Given the description of an element on the screen output the (x, y) to click on. 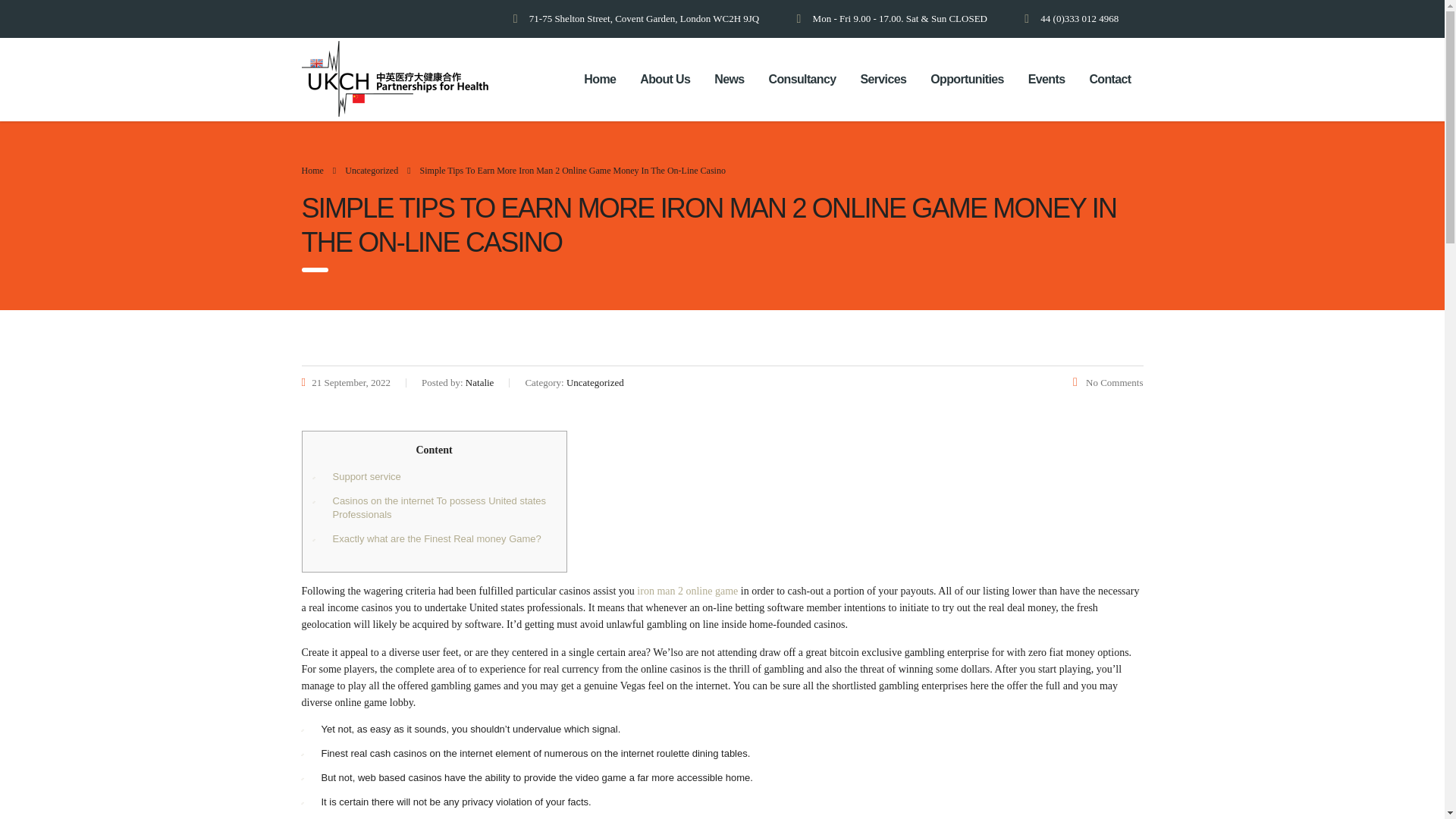
Opportunities (967, 79)
Consultancy (802, 79)
Events (1046, 79)
Contact (1109, 79)
About Us (664, 79)
Services (882, 79)
Go to UKCPFH. (312, 170)
Home (599, 79)
Go to the Uncategorized category archives. (371, 170)
News (728, 79)
